Given the description of an element on the screen output the (x, y) to click on. 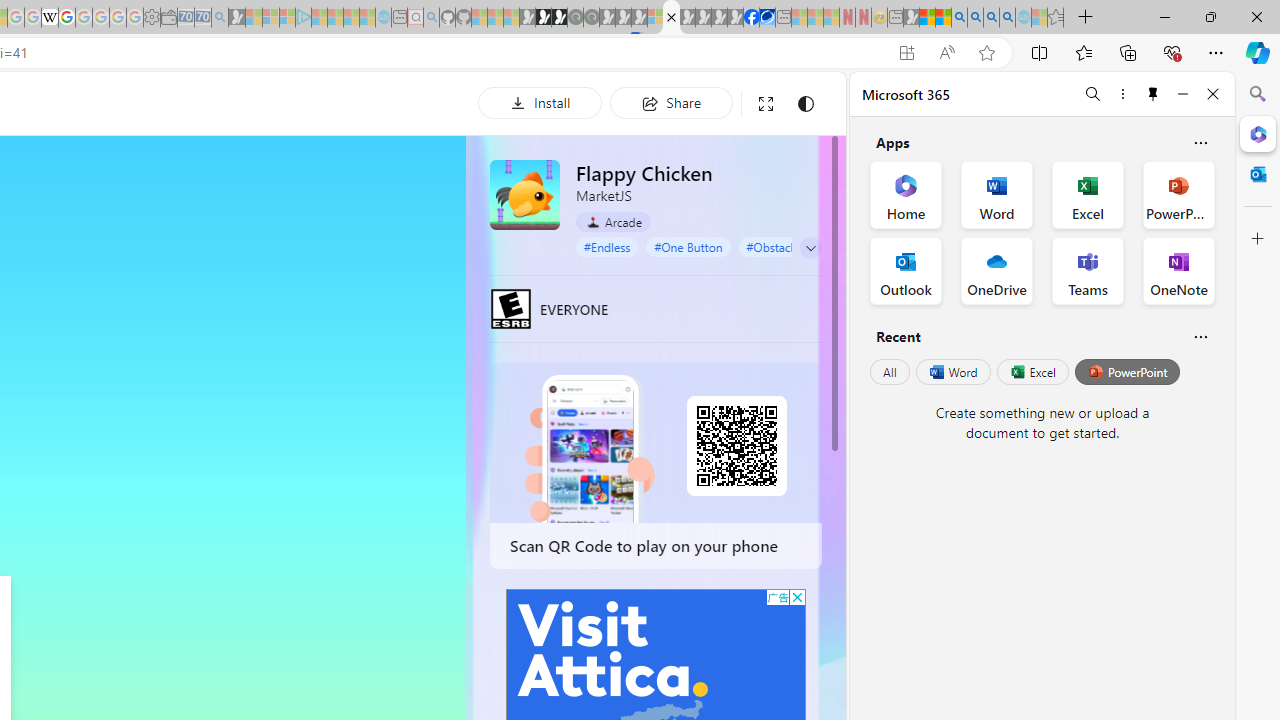
Outlook Office App (906, 270)
Browser essentials (1171, 52)
Sign in to your account - Sleeping (655, 17)
Settings and more (Alt+F) (1215, 52)
Favorites (1083, 52)
More options (1122, 93)
Arcade (613, 221)
Share (671, 102)
Cheap Car Rentals - Save70.com - Sleeping (202, 17)
Microsoft Start - Sleeping (351, 17)
App available. Install Flappy Chicken (906, 53)
Close Outlook pane (1258, 174)
